Given the description of an element on the screen output the (x, y) to click on. 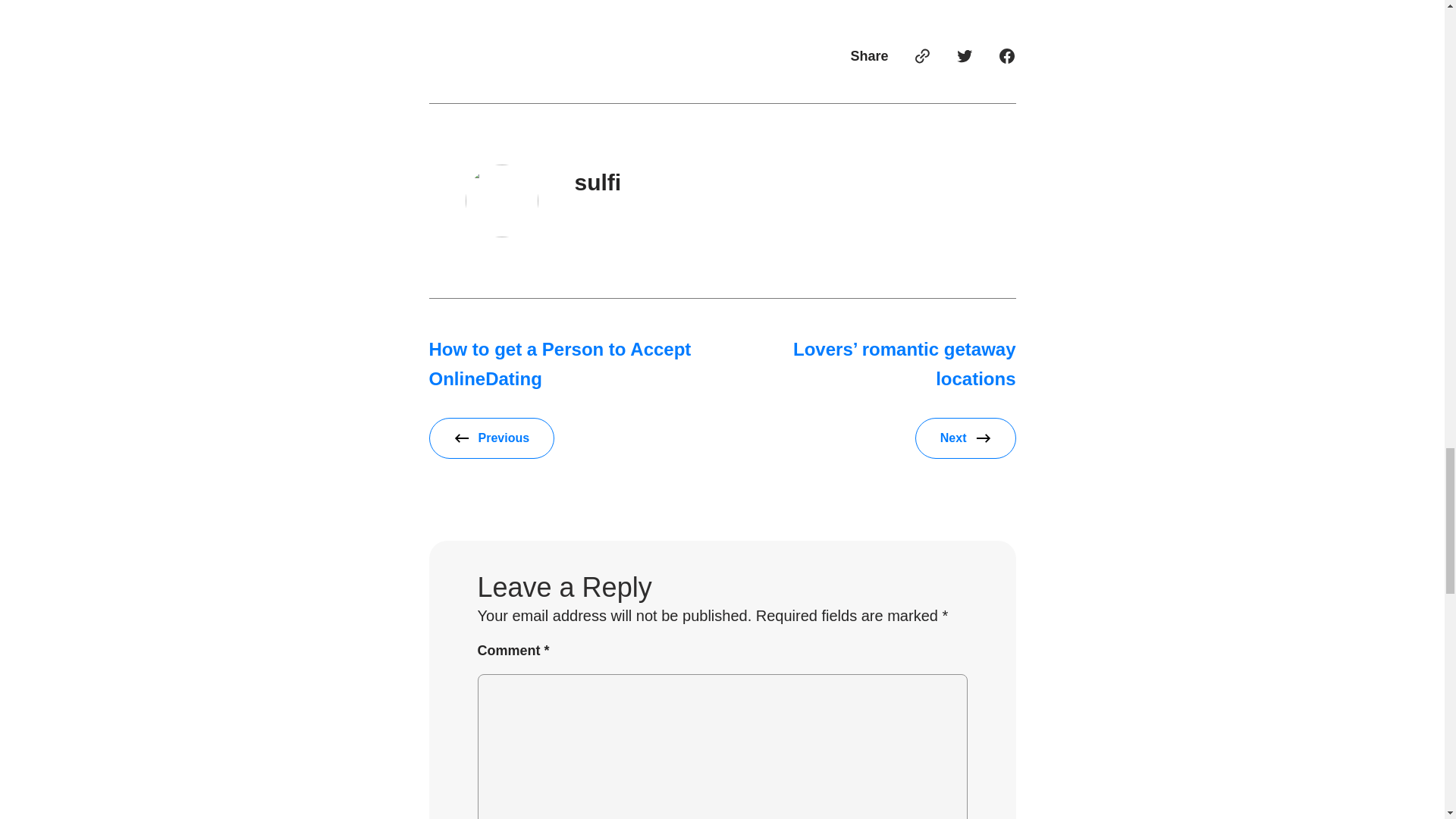
Twitter (964, 55)
How to get a Person to Accept OnlineDating (560, 363)
Facebook (1006, 55)
Next (965, 437)
Previous (491, 437)
Link (921, 55)
